Given the description of an element on the screen output the (x, y) to click on. 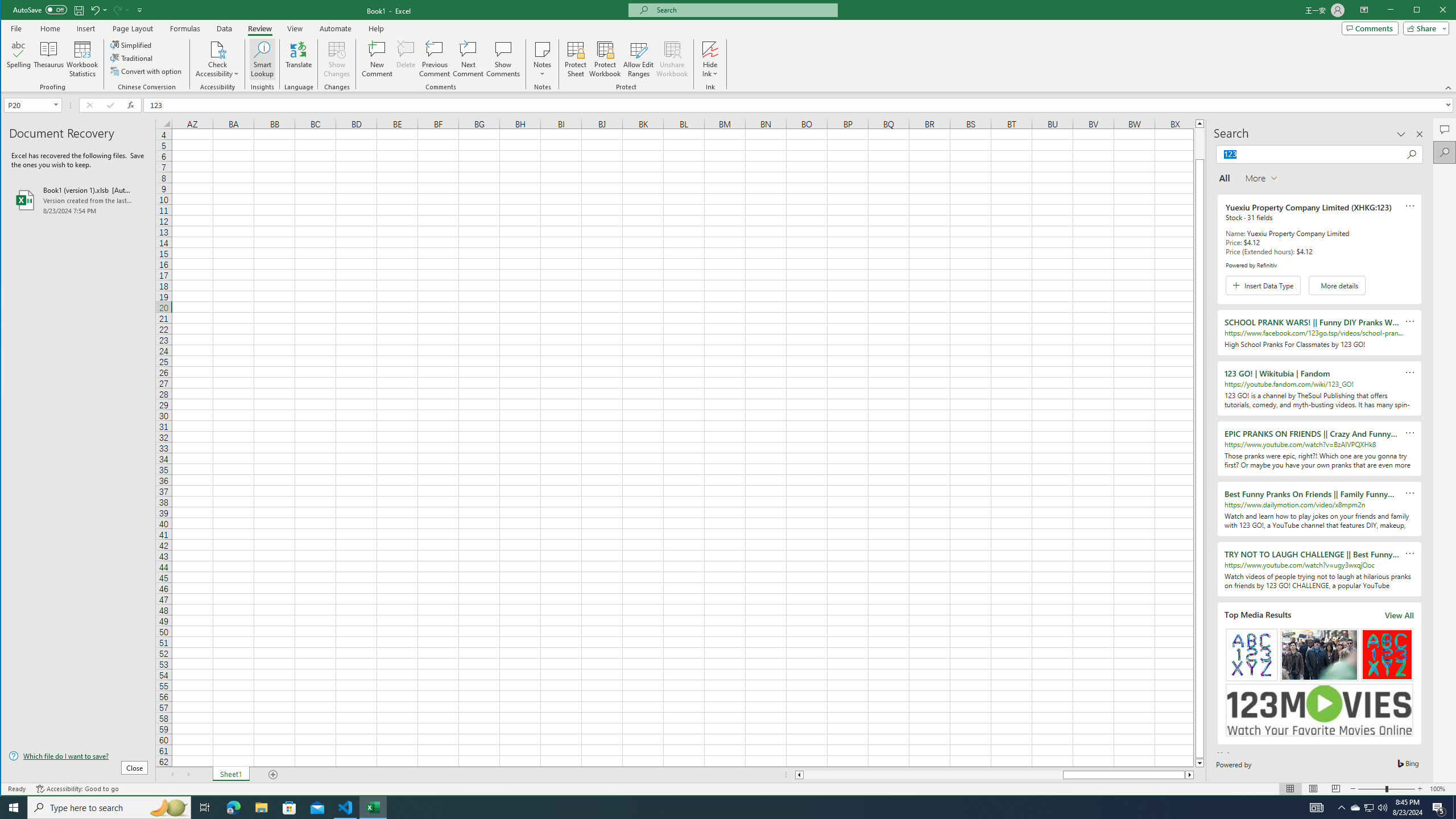
Type here to search (108, 807)
New Comment (377, 59)
Task View (204, 807)
Visual Studio Code - 1 running window (345, 807)
Running applications (717, 807)
